Given the description of an element on the screen output the (x, y) to click on. 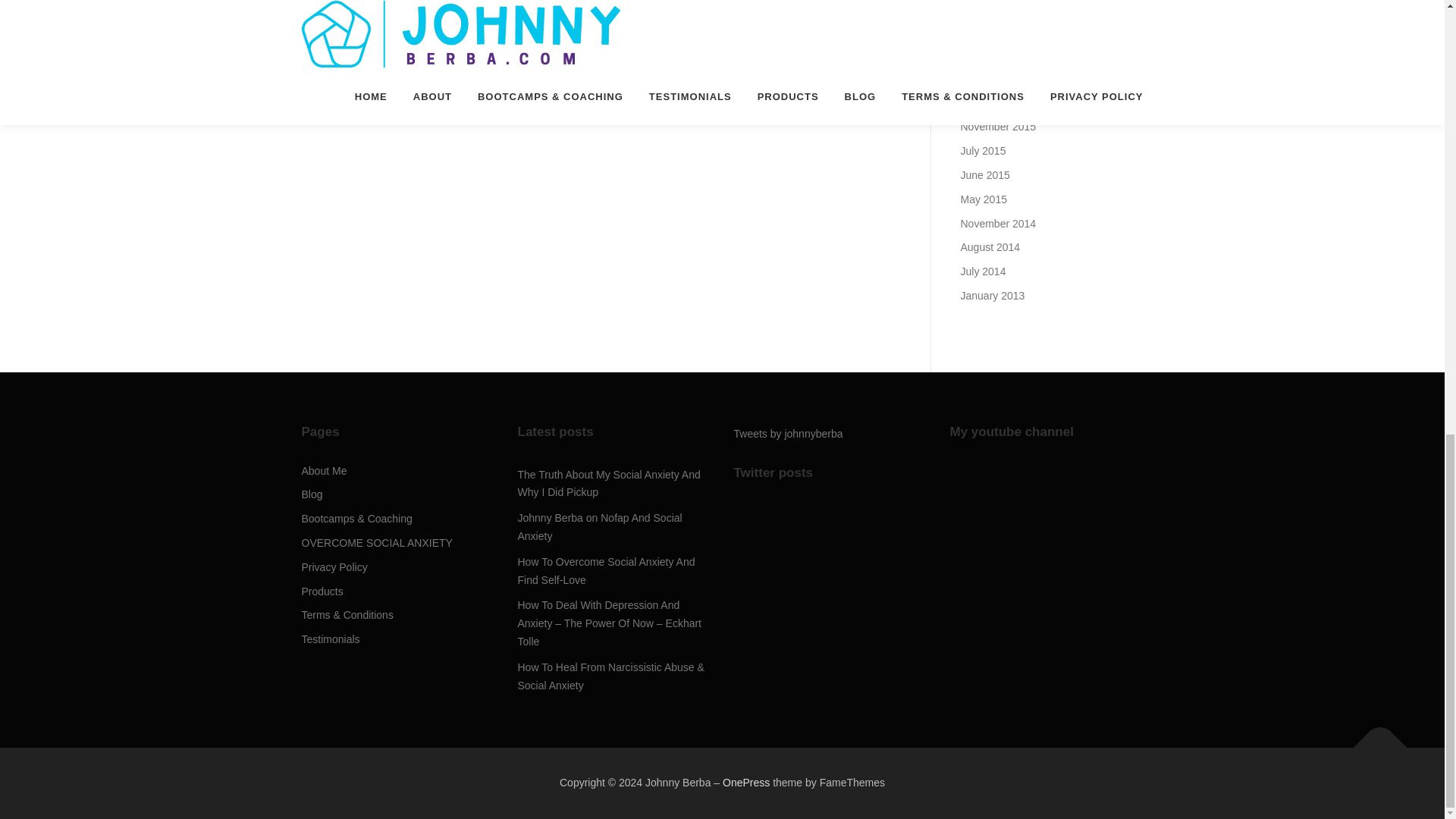
May 2016 (982, 6)
Back To Top (1372, 740)
April 2016 (983, 30)
July 2015 (982, 150)
May 2015 (982, 199)
March 2016 (987, 54)
November 2015 (997, 126)
January 2016 (992, 78)
December 2015 (997, 102)
June 2015 (984, 174)
